Given the description of an element on the screen output the (x, y) to click on. 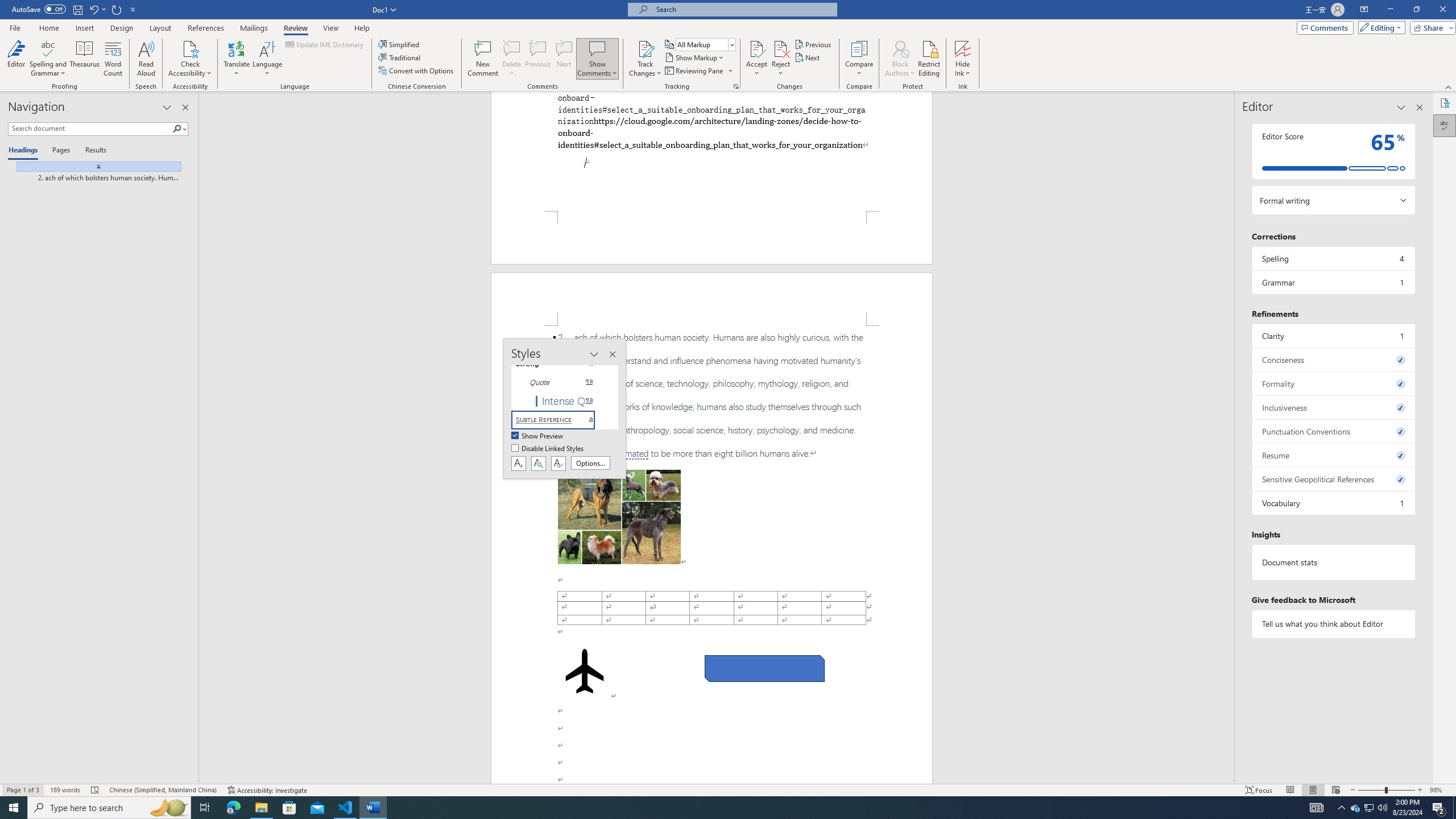
Check Accessibility (189, 48)
Simplified (400, 44)
Strong (559, 363)
Delete (511, 48)
Page 1 content (711, 151)
Reviewing Pane (694, 69)
Undo Style (96, 9)
